Given the description of an element on the screen output the (x, y) to click on. 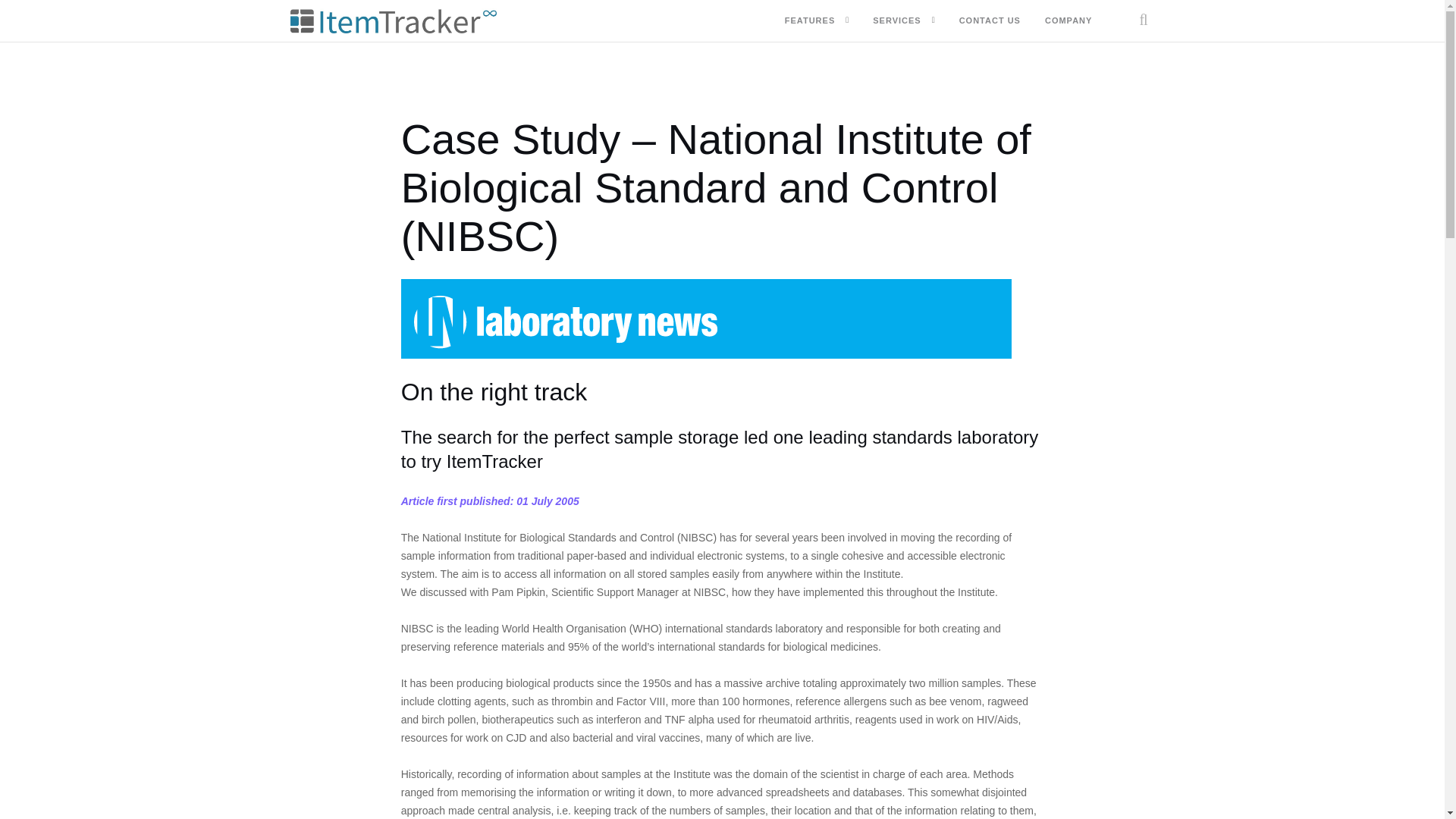
Article first published: 01 July 2005 (490, 500)
FEATURES (809, 21)
Services (896, 21)
Features (809, 21)
SERVICES (896, 21)
CONTACT US (989, 21)
Search (1129, 72)
COMPANY (1068, 21)
